Given the description of an element on the screen output the (x, y) to click on. 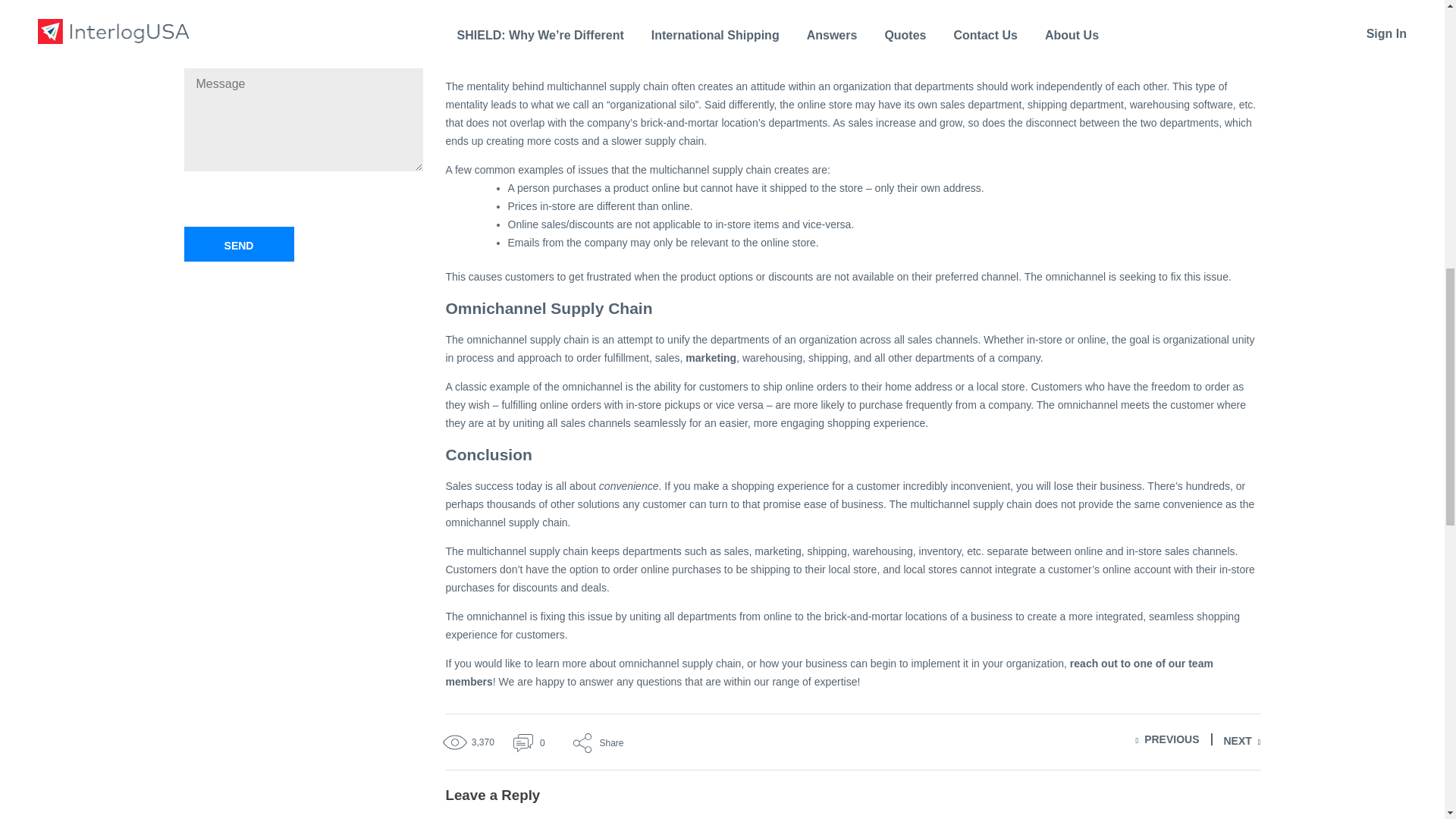
Send (238, 243)
